Given the description of an element on the screen output the (x, y) to click on. 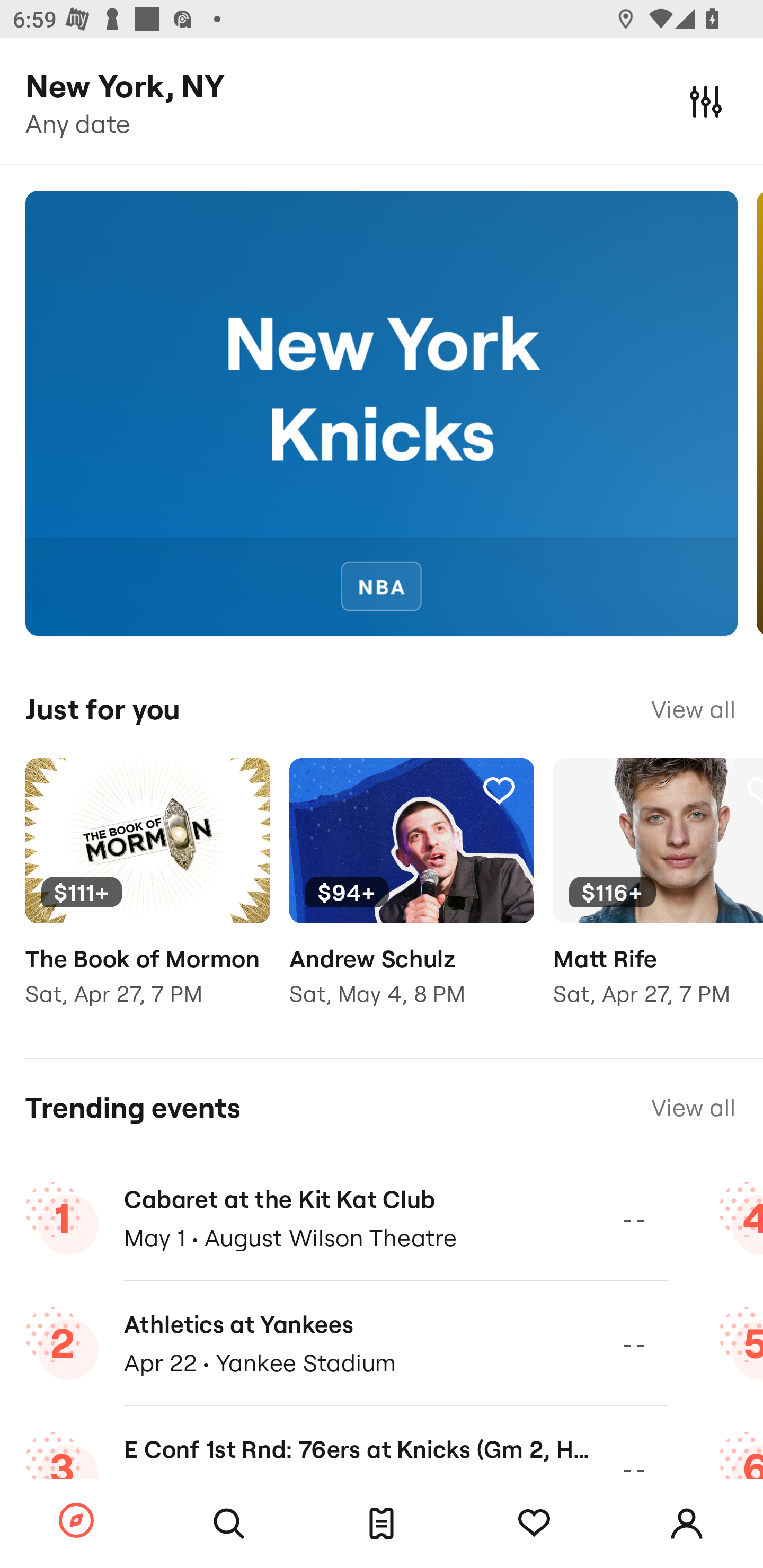
Filters (705, 100)
View all (693, 709)
Tracking $94+ Andrew Schulz Sat, May 4, 8 PM (411, 895)
Tracking $116+ Matt Rife Sat, Apr 27, 7 PM (658, 895)
Tracking (234, 790)
Tracking (498, 790)
View all (693, 1108)
Browse (76, 1521)
Search (228, 1523)
Tickets (381, 1523)
Tracking (533, 1523)
Account (686, 1523)
